Given the description of an element on the screen output the (x, y) to click on. 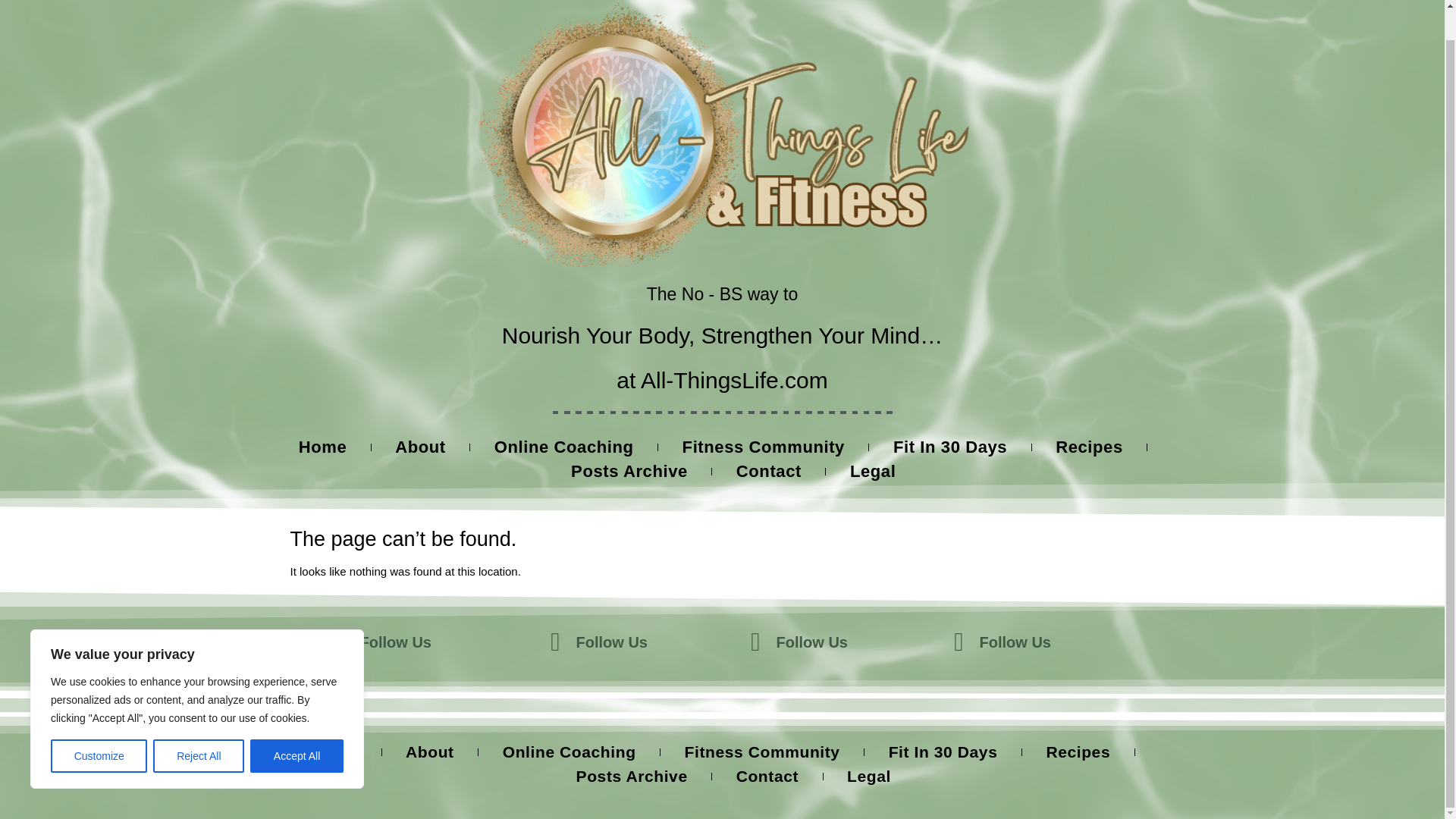
Posts Archive (628, 471)
Customize (98, 713)
Online Coaching (563, 446)
Contact (769, 471)
Follow Us (611, 641)
Fit In 30 Days (950, 446)
Legal (872, 471)
About (429, 752)
Home (333, 752)
Fitness Community (763, 446)
Home (323, 446)
About (419, 446)
Recipes (1089, 446)
Follow Us (394, 641)
Accept All (296, 713)
